Given the description of an element on the screen output the (x, y) to click on. 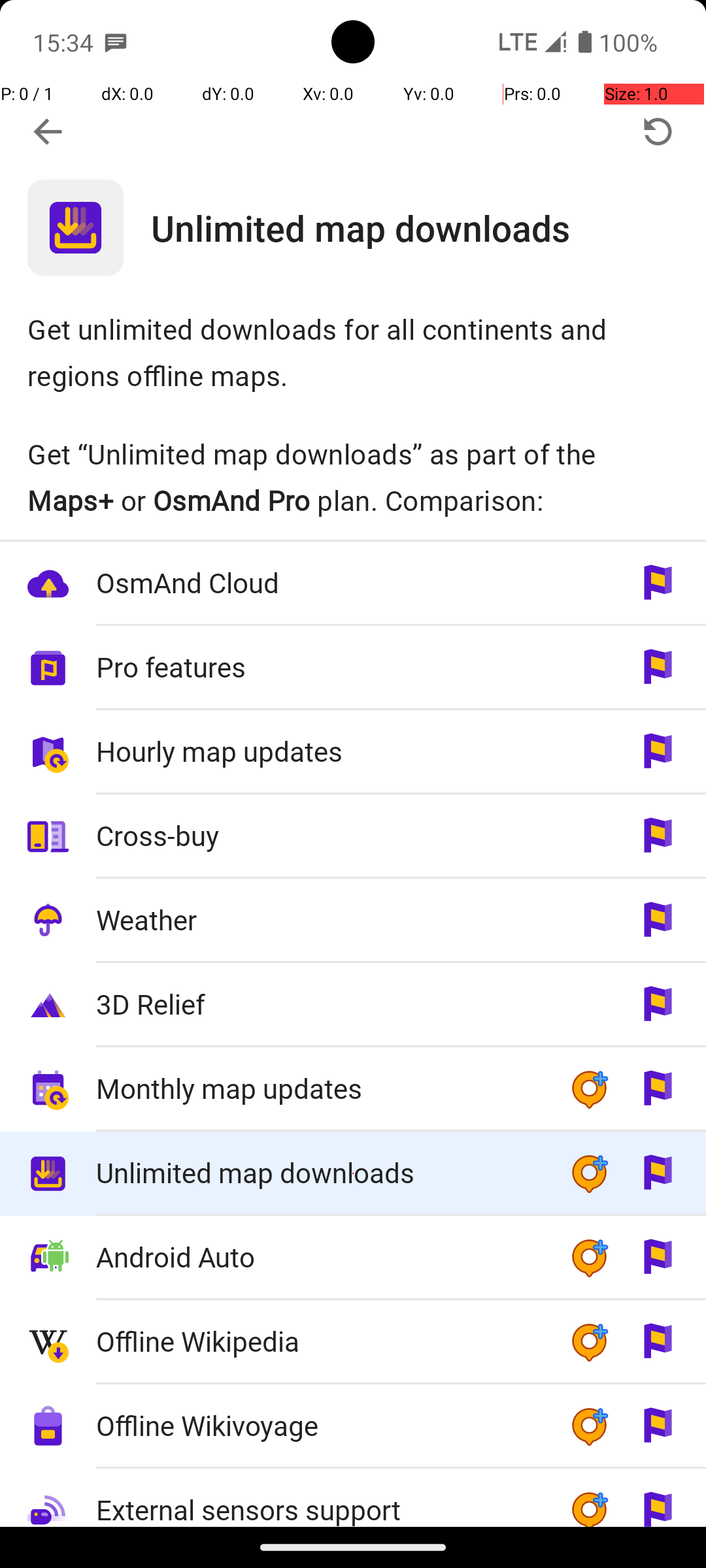
Unlimited map downloads Element type: android.widget.TextView (428, 227)
Restore purchases Element type: android.widget.ImageButton (657, 131)
Get unlimited downloads for all continents and regions offline maps. Element type: android.widget.TextView (353, 351)
Get “Unlimited map downloads” as part of the Maps+ or OsmAnd Pro plan. Comparison: Element type: android.widget.TextView (353, 476)
OsmAnd Cloud available as part of the OsmAnd Pro plan Element type: android.widget.LinearLayout (353, 583)
Pro features available as part of the OsmAnd Pro plan Element type: android.widget.LinearLayout (353, 667)
Hourly map updates available as part of the OsmAnd Pro plan Element type: android.widget.LinearLayout (353, 752)
Cross-buy available as part of the OsmAnd Pro plan Element type: android.widget.LinearLayout (353, 836)
Weather available as part of the OsmAnd Pro plan Element type: android.widget.LinearLayout (353, 920)
3D Relief available as part of the OsmAnd Pro plan Element type: android.widget.LinearLayout (353, 1005)
Monthly map updates available as part of the OsmAnd+ or OsmAnd Pro plan Element type: android.widget.LinearLayout (353, 1089)
Unlimited map downloads available as part of the OsmAnd+ or OsmAnd Pro plan Element type: android.widget.LinearLayout (353, 1173)
Android Auto available as part of the OsmAnd+ or OsmAnd Pro plan Element type: android.widget.LinearLayout (353, 1257)
Offline Wikipedia available as part of the OsmAnd+ or OsmAnd Pro plan Element type: android.widget.LinearLayout (353, 1342)
Offline Wikivoyage available as part of the OsmAnd+ or OsmAnd Pro plan Element type: android.widget.LinearLayout (353, 1426)
External sensors support available as part of the OsmAnd+ or OsmAnd Pro plan Element type: android.widget.LinearLayout (353, 1497)
OsmAnd Cloud Element type: android.widget.TextView (318, 581)
Pro features Element type: android.widget.TextView (318, 666)
Hourly map updates Element type: android.widget.TextView (318, 750)
Cross-buy Element type: android.widget.TextView (318, 834)
Weather Element type: android.widget.TextView (318, 919)
3D Relief Element type: android.widget.TextView (318, 1003)
Monthly map updates Element type: android.widget.TextView (318, 1087)
Offline Wikipedia Element type: android.widget.TextView (318, 1340)
Offline Wikivoyage Element type: android.widget.TextView (318, 1424)
External sensors support Element type: android.widget.TextView (318, 1498)
